Given the description of an element on the screen output the (x, y) to click on. 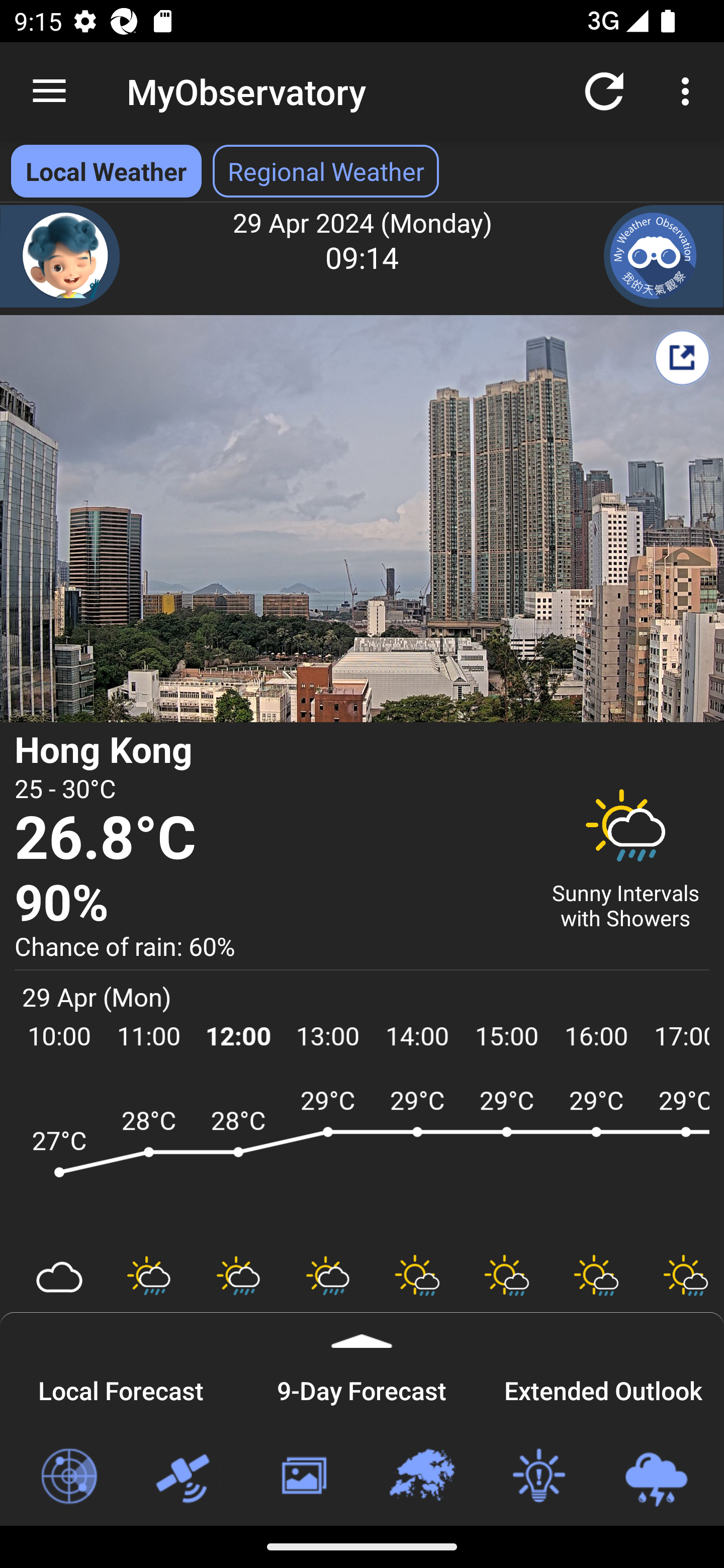
Navigate up (49, 91)
Refresh (604, 90)
More options (688, 90)
Local Weather Local Weather selected (105, 170)
Regional Weather Select Regional Weather (325, 170)
Chatbot (60, 256)
My Weather Observation (663, 256)
Share My Weather Report (681, 357)
26.8°C Temperature
26.8 degree Celsius (270, 839)
90% Relative Humidity
90 percent (270, 903)
ARWF (361, 1160)
Expand (362, 1330)
Local Forecast (120, 1387)
Extended Outlook (603, 1387)
Radar Images (68, 1476)
Satellite Images (185, 1476)
Weather Photos (302, 1476)
Regional Weather (420, 1476)
Weather Tips (537, 1476)
Loc-based Rain & Lightning Forecast (655, 1476)
